Given the description of an element on the screen output the (x, y) to click on. 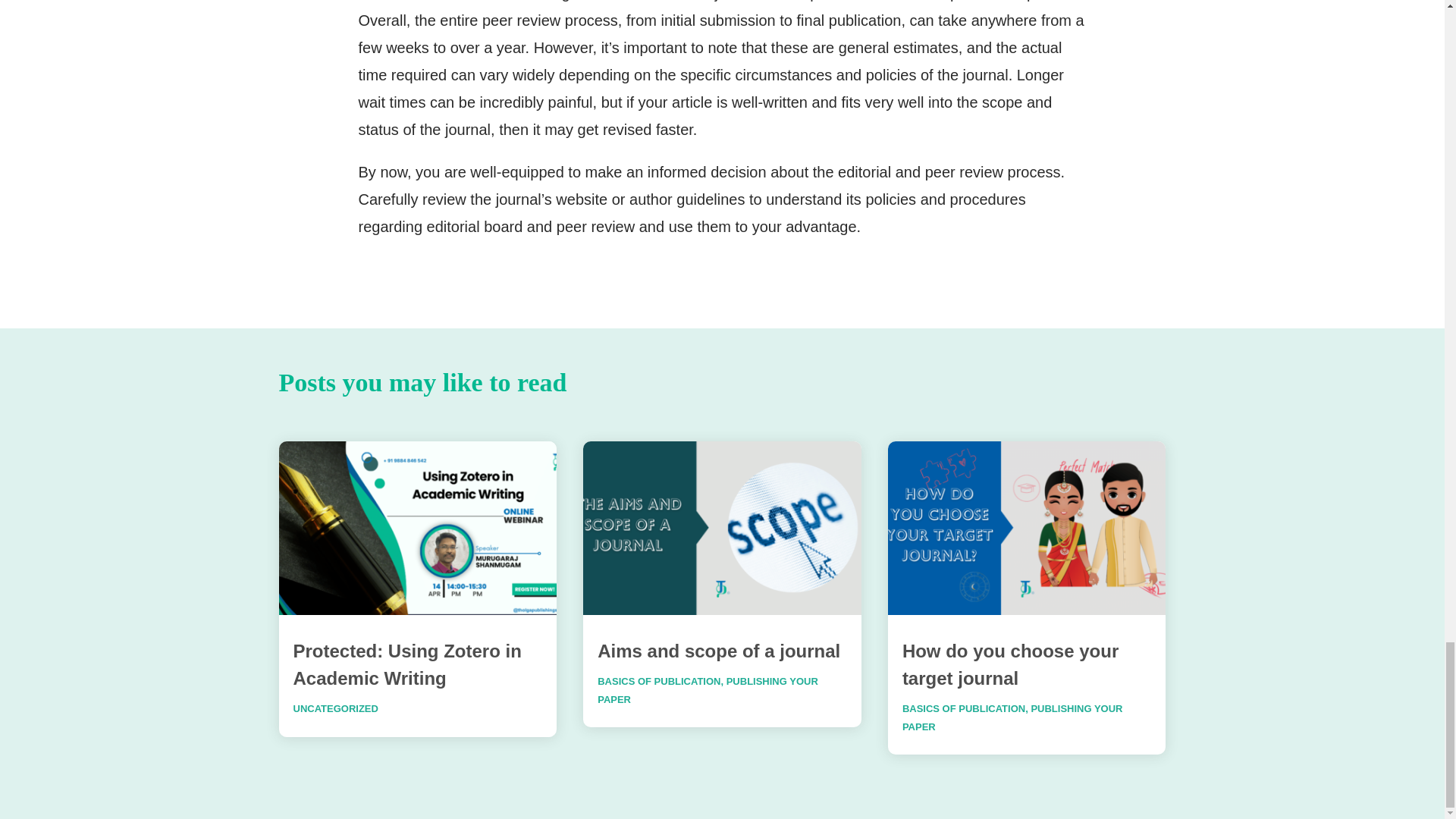
BASICS OF PUBLICATION (963, 708)
Protected: Using Zotero in Academic Writing (406, 664)
How do you choose your target journal (1010, 664)
Aims and scope of a journal (718, 650)
UNCATEGORIZED (334, 708)
BASICS OF PUBLICATION (658, 681)
PUBLISHING YOUR PAPER (1012, 717)
PUBLISHING YOUR PAPER (707, 689)
